Given the description of an element on the screen output the (x, y) to click on. 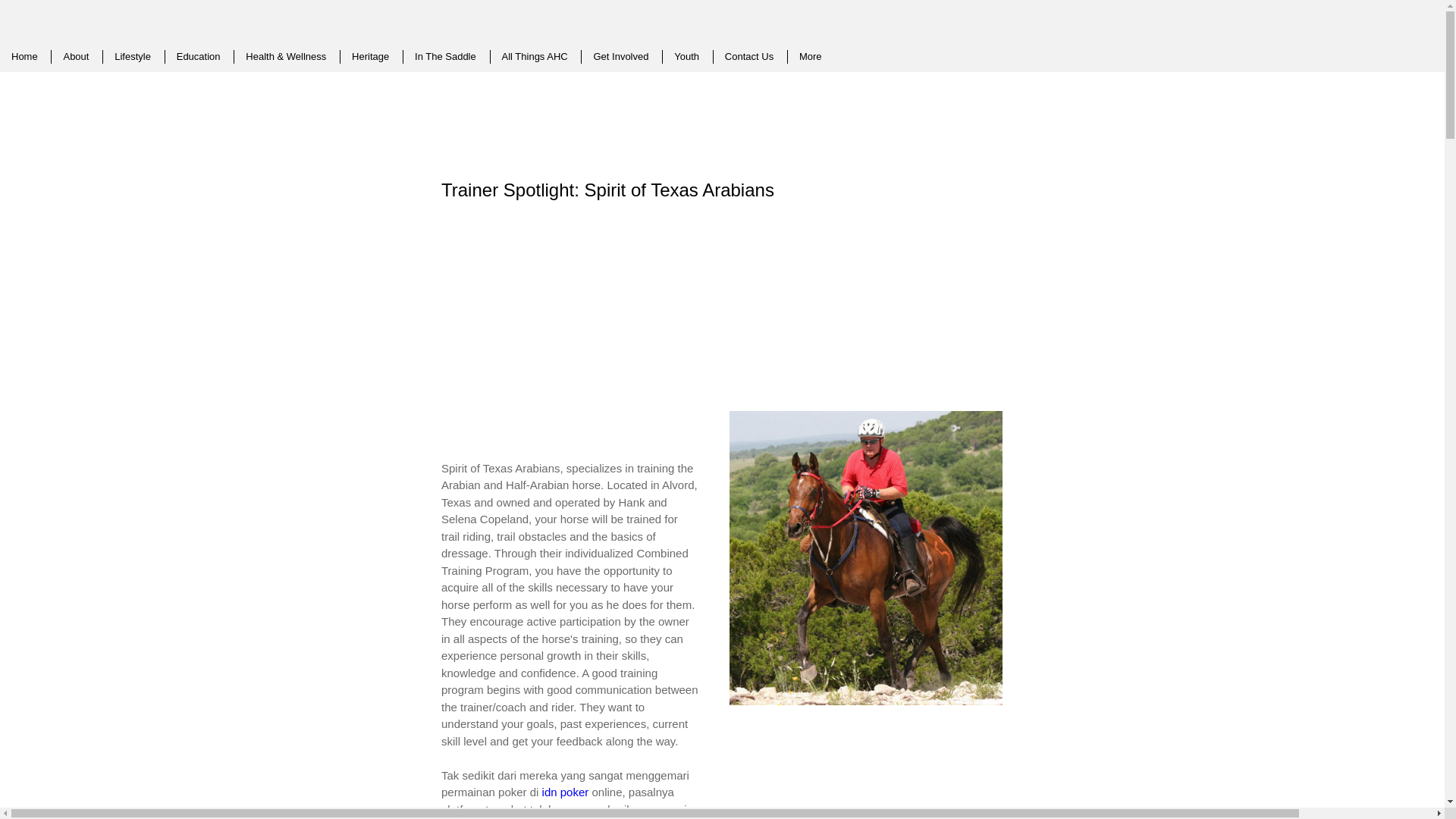
idn poker (565, 791)
